Given the description of an element on the screen output the (x, y) to click on. 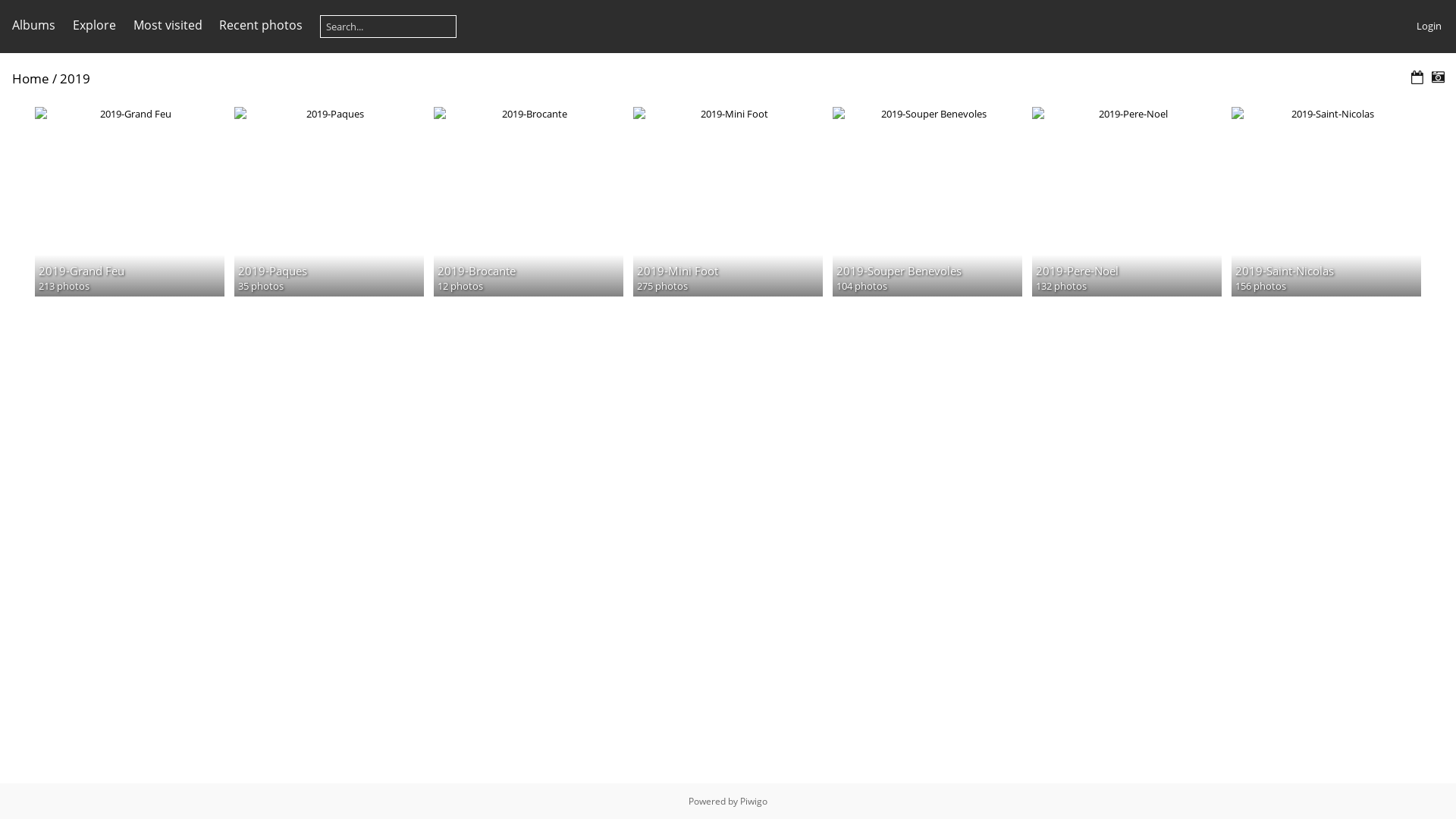
2019-Saint-Nicolas
156 photos Element type: text (1326, 113)
2019-Pere-Noel
132 photos Element type: text (1126, 113)
display a calendar by creation date Element type: hover (1437, 77)
2019-Mini Foot
275 photos Element type: text (727, 113)
display a calendar by posted date Element type: hover (1417, 77)
Explore Element type: text (94, 24)
2019-Paques
35 photos Element type: text (328, 113)
2019 Element type: text (74, 78)
2019-Brocante
12 photos Element type: text (528, 113)
2019-Souper Benevoles
104 photos Element type: text (927, 113)
2019-Grand Feu
213 photos Element type: text (129, 113)
Piwigo Element type: text (753, 800)
Most visited Element type: text (167, 24)
Recent photos Element type: text (260, 24)
Login Element type: text (1428, 25)
Albums Element type: text (33, 24)
Home Element type: text (30, 78)
